Given the description of an element on the screen output the (x, y) to click on. 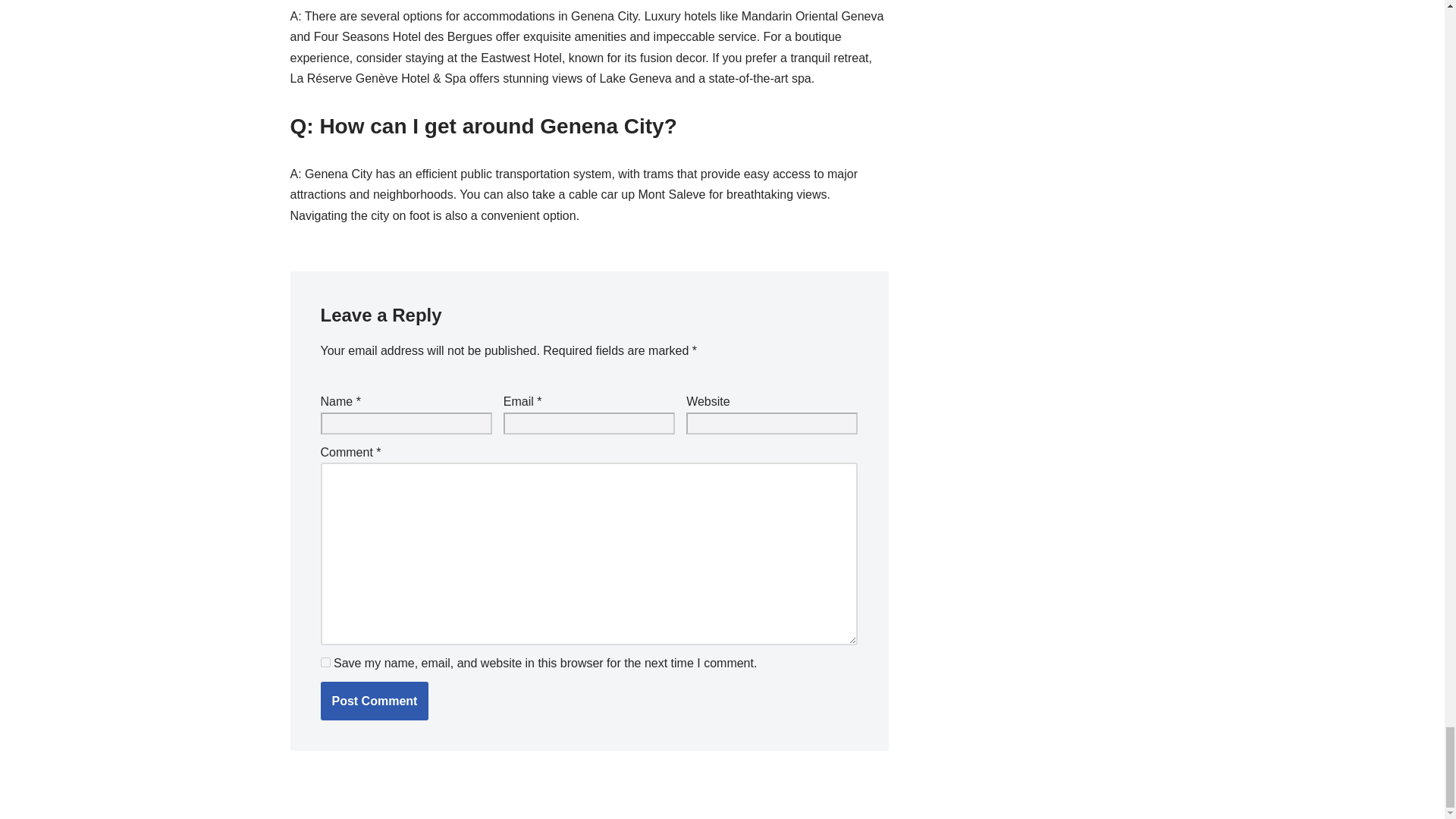
Post Comment (374, 701)
yes (325, 662)
